Given the description of an element on the screen output the (x, y) to click on. 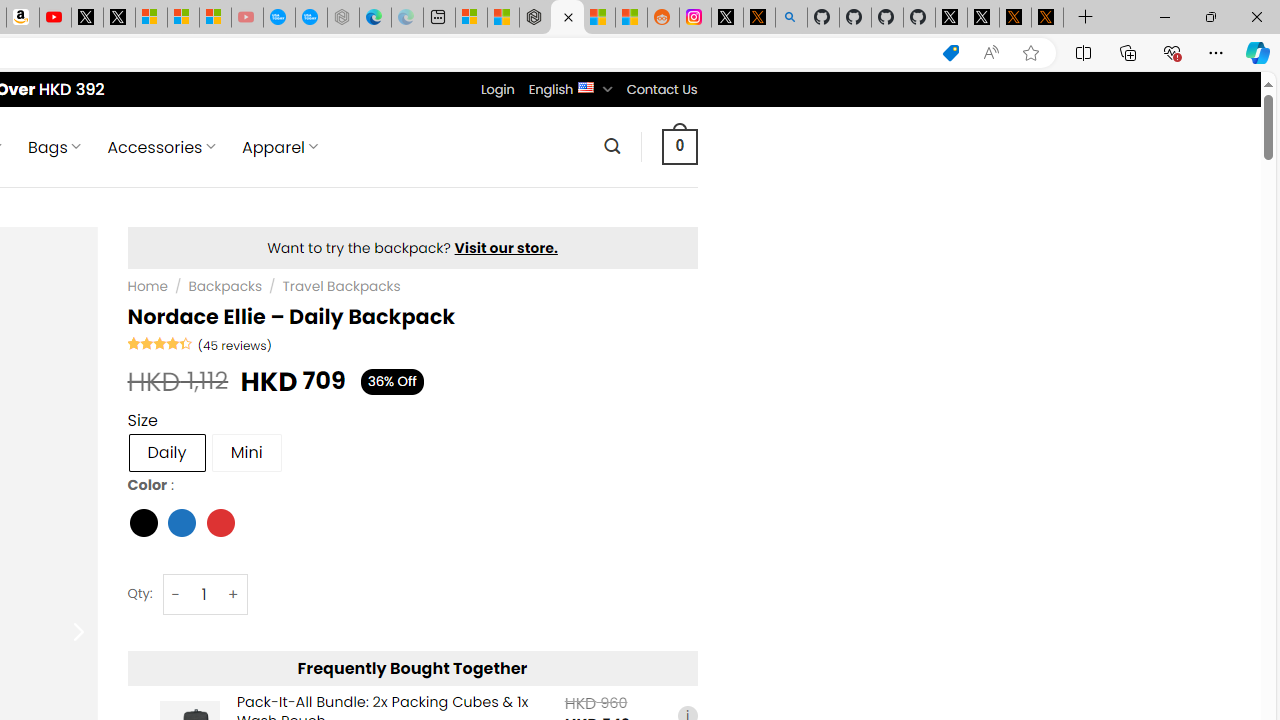
- (175, 593)
Shanghai, China Weather trends | Microsoft Weather (630, 17)
Microsoft account | Microsoft Account Privacy Settings (471, 17)
Nordace - Nordace has arrived Hong Kong - Sleeping (343, 17)
This site has coupons! Shopping in Microsoft Edge (950, 53)
X Privacy Policy (1047, 17)
+ (234, 593)
